Given the description of an element on the screen output the (x, y) to click on. 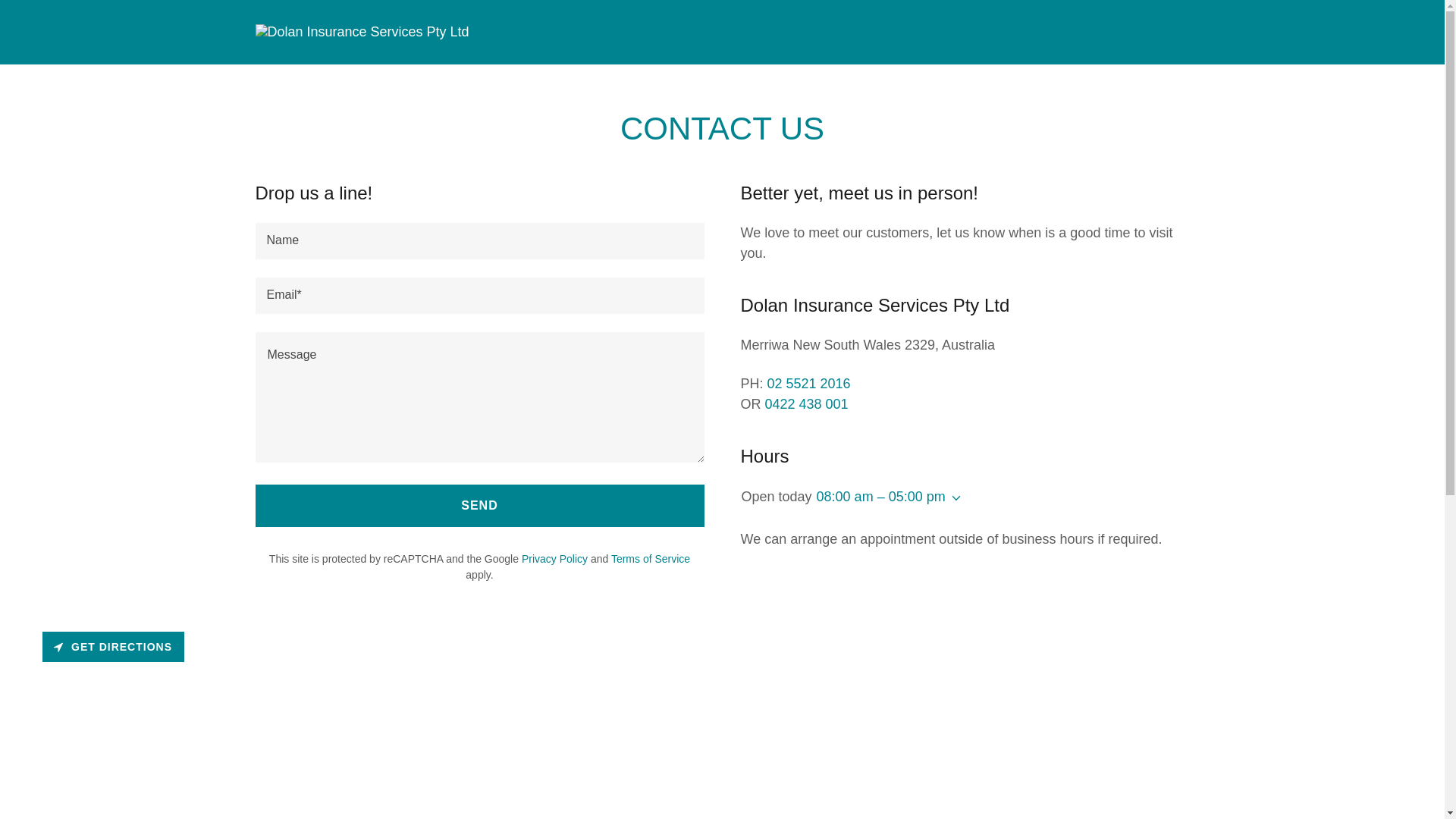
Privacy Policy Element type: text (554, 558)
GET DIRECTIONS Element type: text (113, 646)
Terms of Service Element type: text (650, 558)
SEND Element type: text (478, 505)
0422 438 001 Element type: text (806, 403)
02 5521 2016 Element type: text (808, 383)
Dolan Insurance Services Pty Ltd Element type: hover (361, 31)
